Given the description of an element on the screen output the (x, y) to click on. 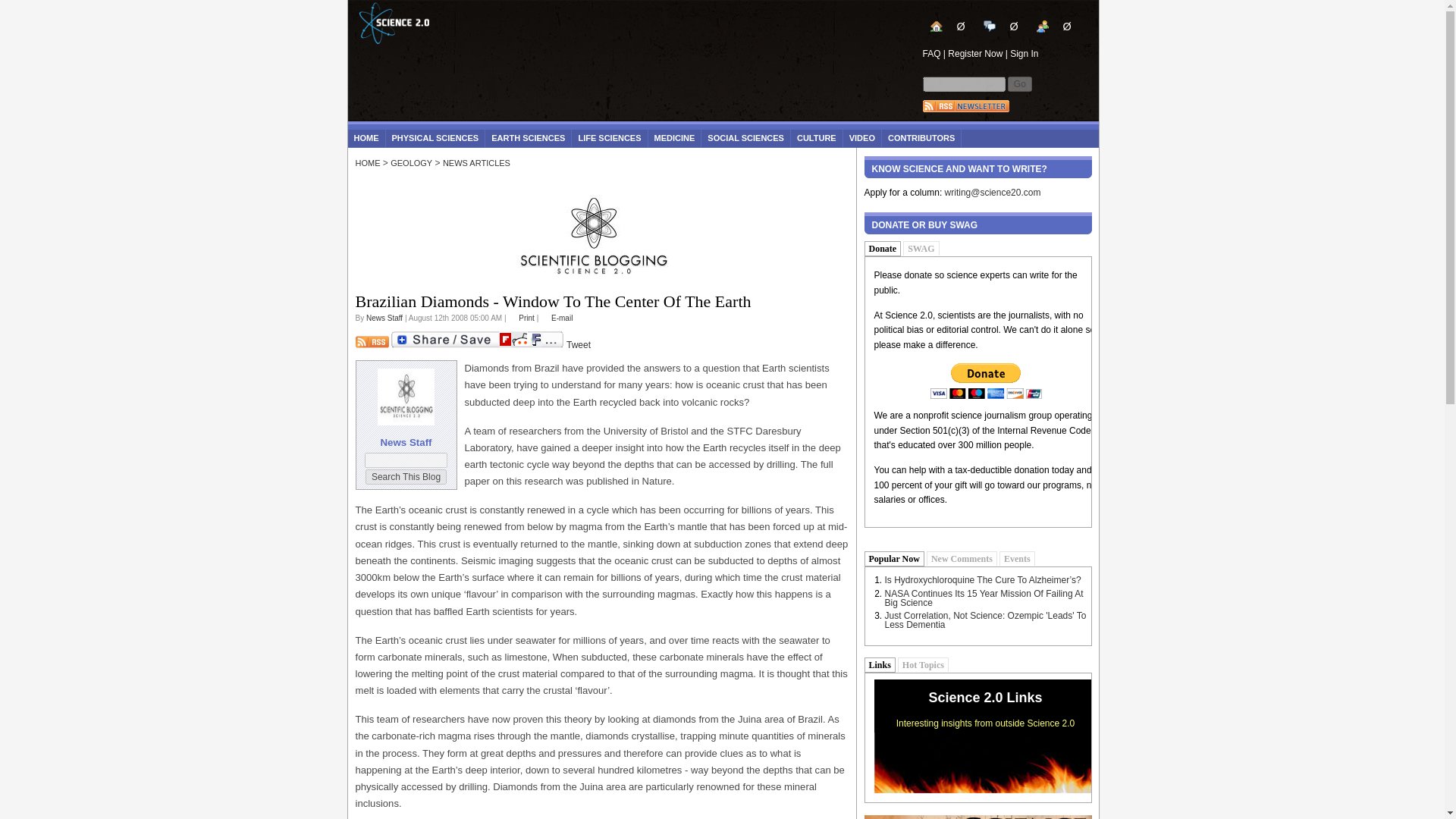
LIFE SCIENCES (609, 138)
Sign in and track comments on your writing... (1005, 30)
Enter the terms you wish to search for. (962, 83)
Go (1019, 83)
Register Now (975, 53)
Sign In (1024, 53)
Sign in and see comments by people on your friends list... (1054, 26)
PHYSICAL SCIENCES (434, 138)
View user profile. (384, 317)
EARTH SCIENCES (527, 138)
FAQ (930, 53)
PayPal - The safer, easier way to pay online! (986, 380)
Search This Blog (405, 476)
MEDICINE (674, 138)
